Given the description of an element on the screen output the (x, y) to click on. 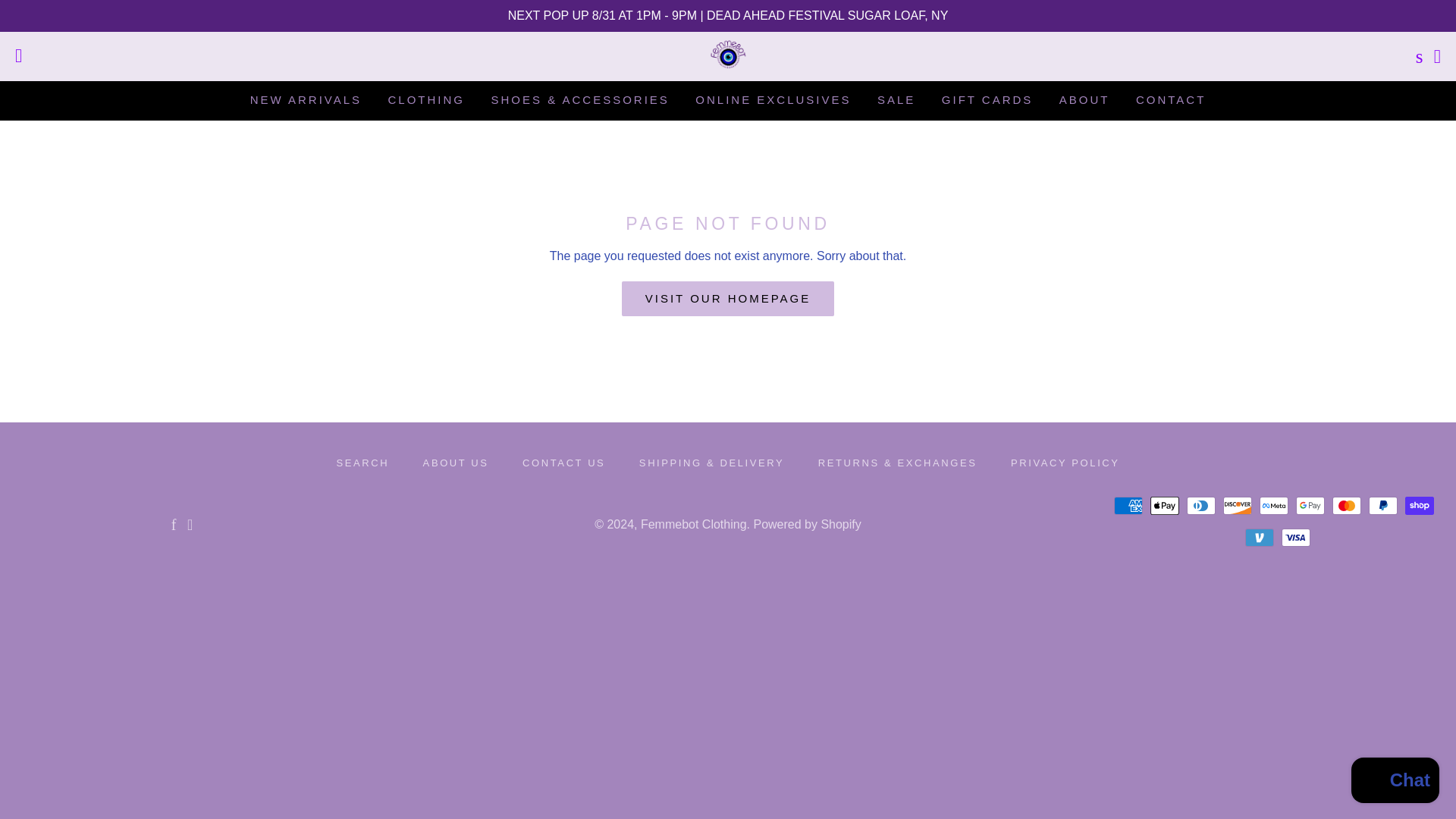
Diners Club (1200, 505)
Apple Pay (1164, 505)
American Express (1127, 505)
Meta Pay (1273, 505)
Venmo (1259, 537)
Visa (1295, 537)
Discover (1237, 505)
Mastercard (1346, 505)
Google Pay (1309, 505)
PayPal (1382, 505)
